Given the description of an element on the screen output the (x, y) to click on. 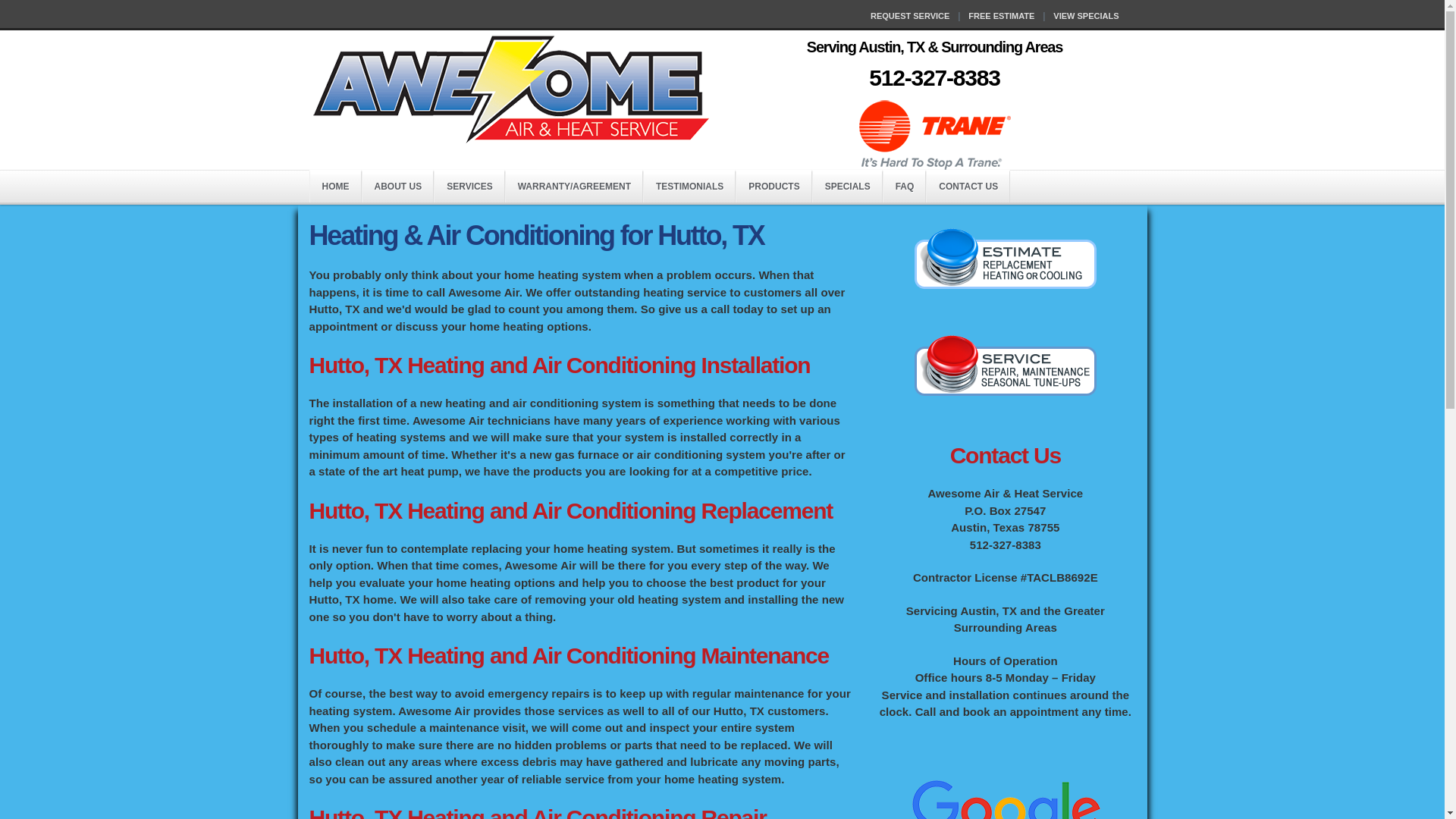
ABOUT US (397, 186)
CONTACT US (967, 186)
REQUEST SERVICE (909, 15)
HOME (333, 186)
SPECIALS (847, 186)
TESTIMONIALS (689, 186)
FAQ (904, 186)
FREE ESTIMATE (1000, 15)
PRODUCTS (773, 186)
SERVICES (468, 186)
VIEW SPECIALS (1085, 15)
